Given the description of an element on the screen output the (x, y) to click on. 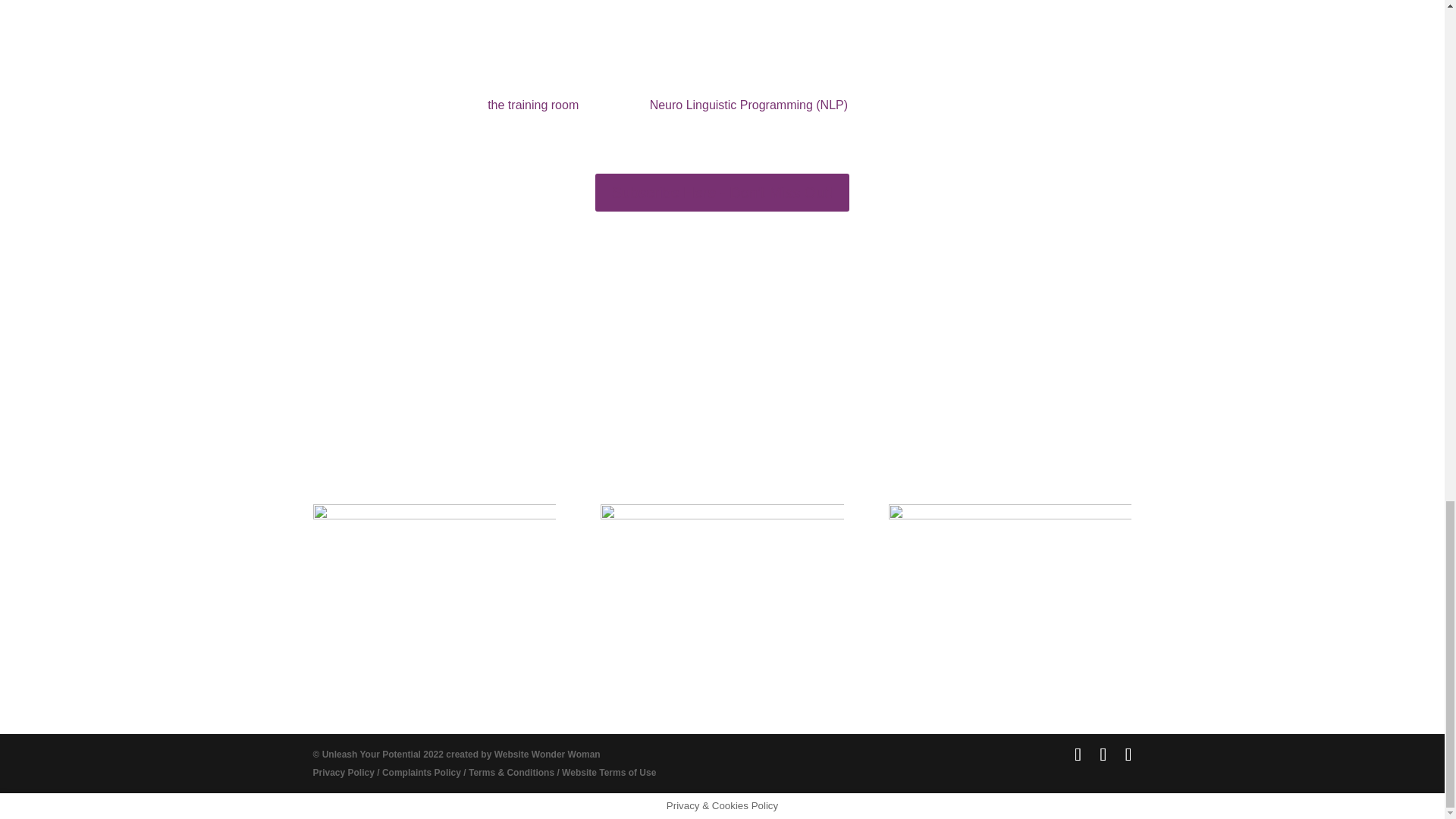
Subscribe Here - Don't Miss Out! (722, 192)
Website Terms of Use (609, 772)
Complaints Policy (421, 772)
the training room (532, 104)
Website Wonder Woman (547, 754)
Privacy Policy (343, 772)
